Given the description of an element on the screen output the (x, y) to click on. 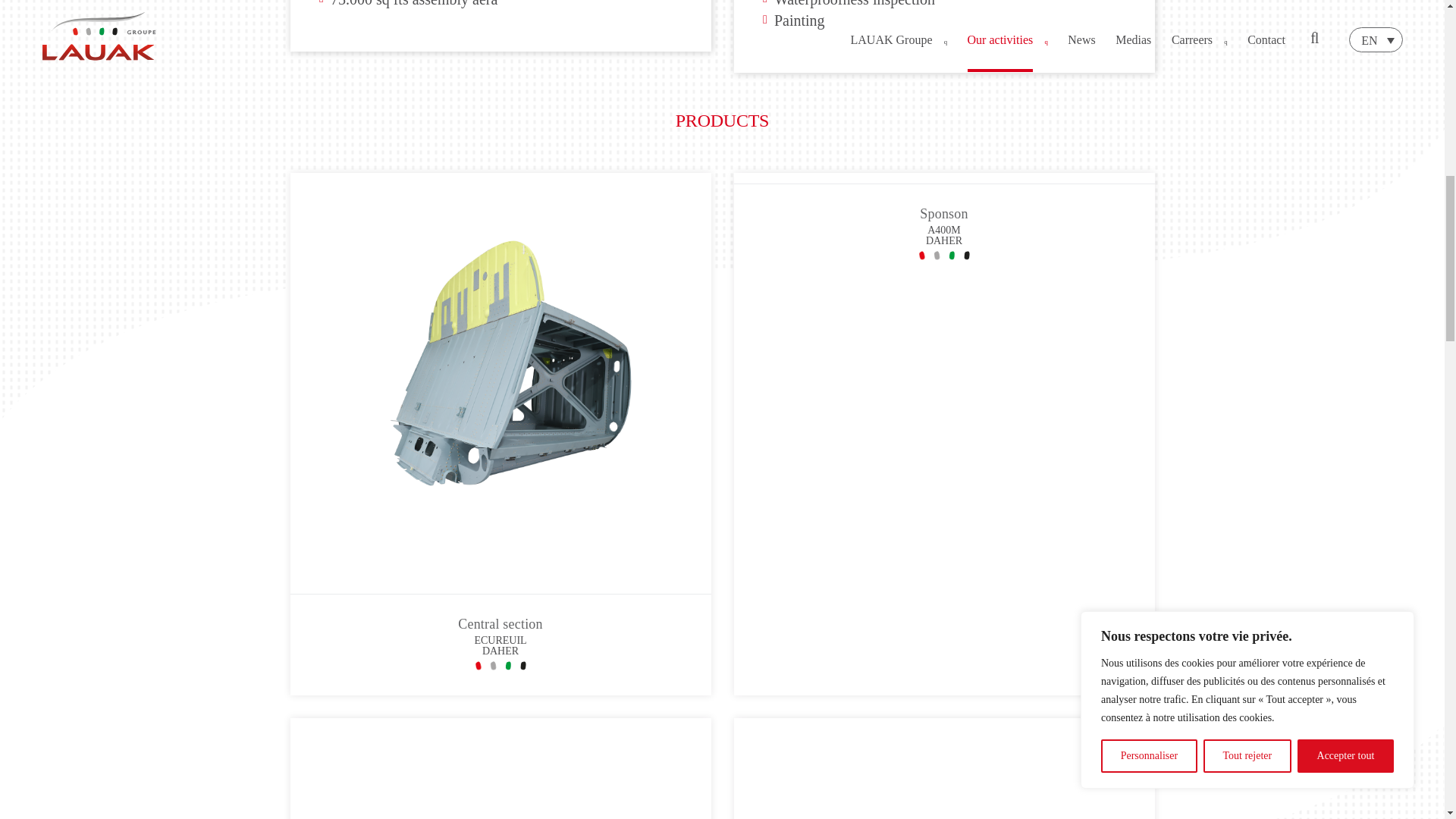
assemblage-pieces-plan-de-travail-1-copie (943, 768)
assemblage-pieces-07 (499, 768)
